Given the description of an element on the screen output the (x, y) to click on. 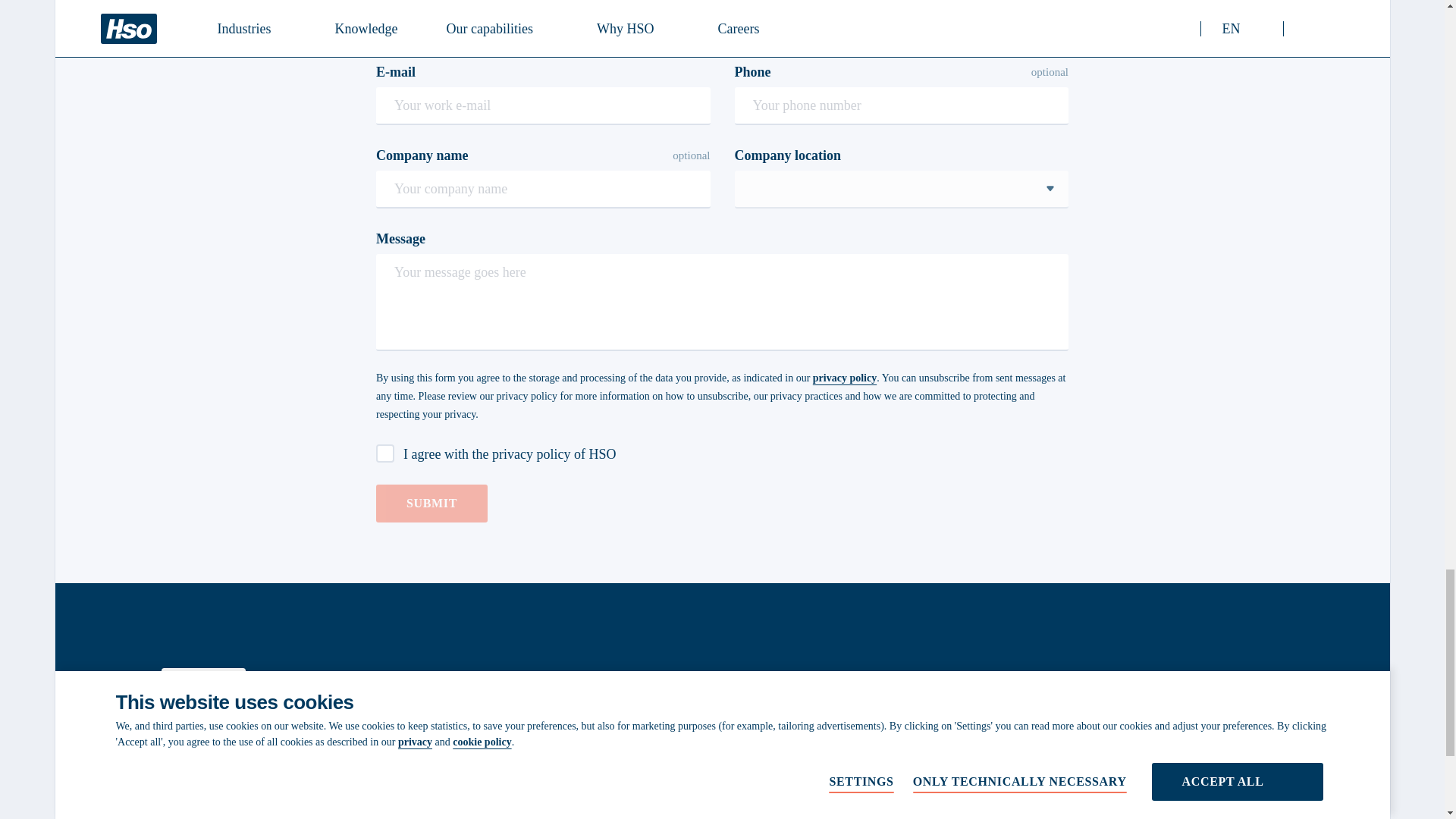
true (384, 453)
Submit (431, 503)
